Given the description of an element on the screen output the (x, y) to click on. 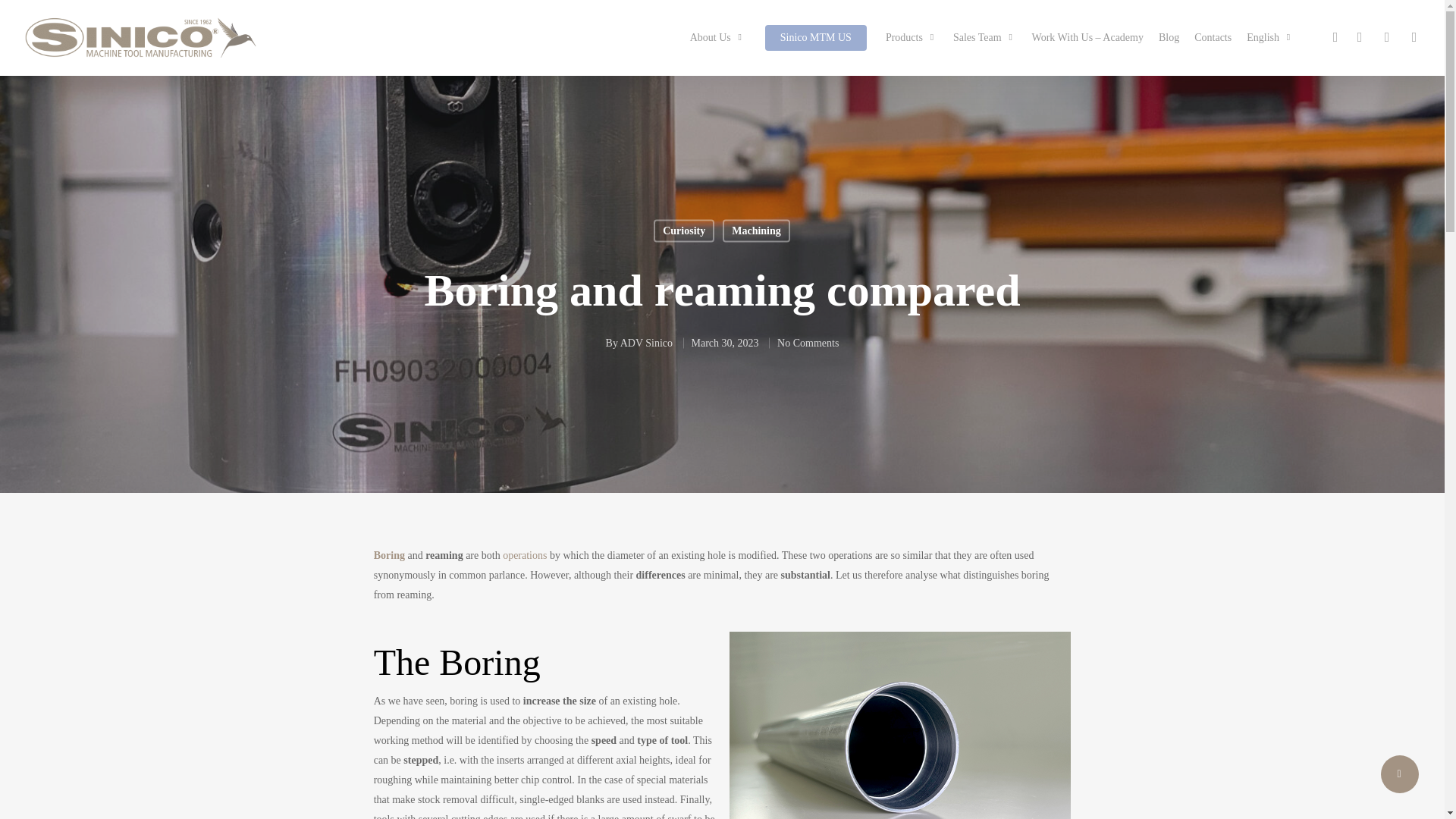
Sinico MTM US (815, 37)
About Us (717, 37)
Contacts (1212, 37)
English (1270, 37)
Sales Team (984, 37)
English (1270, 37)
Posts by ADV Sinico (646, 342)
Blog (1168, 37)
Products (911, 37)
